Given the description of an element on the screen output the (x, y) to click on. 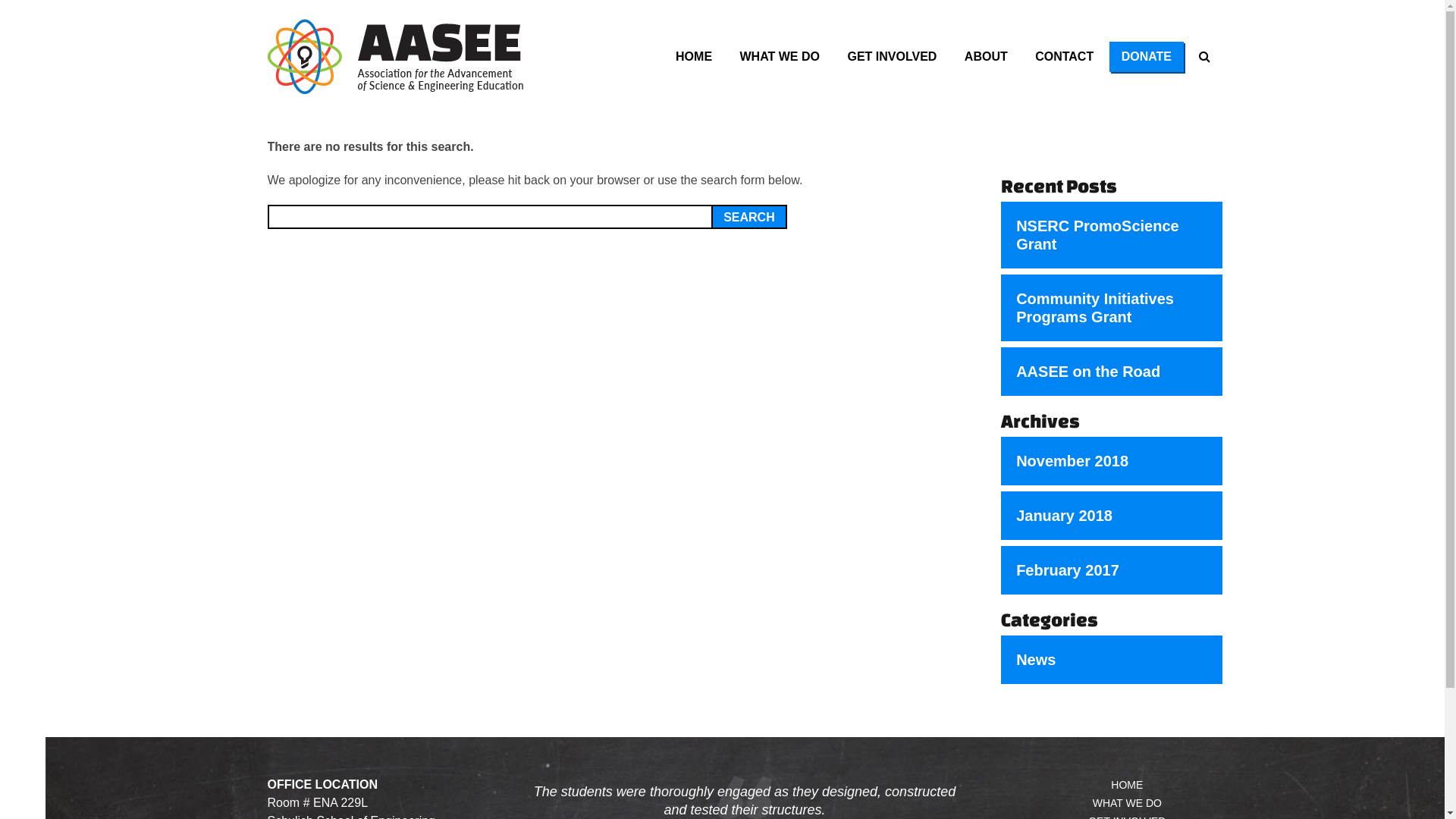
NSERC PromoScience Grant Element type: text (1111, 234)
CONTACT Element type: text (1063, 56)
HOME Element type: text (693, 56)
DONATE Element type: text (1146, 56)
Search Element type: text (749, 216)
Community Initiatives Programs Grant Element type: text (1111, 307)
open search Element type: hover (1204, 56)
WHAT WE DO Element type: text (779, 56)
GET INVOLVED Element type: text (891, 56)
November 2018 Element type: text (1111, 460)
HOME Element type: text (1126, 784)
January 2018 Element type: text (1111, 515)
February 2017 Element type: text (1111, 570)
ABOUT Element type: text (985, 56)
AASEE on the Road Element type: text (1111, 371)
WHAT WE DO Element type: text (1126, 803)
News Element type: text (1111, 659)
